Given the description of an element on the screen output the (x, y) to click on. 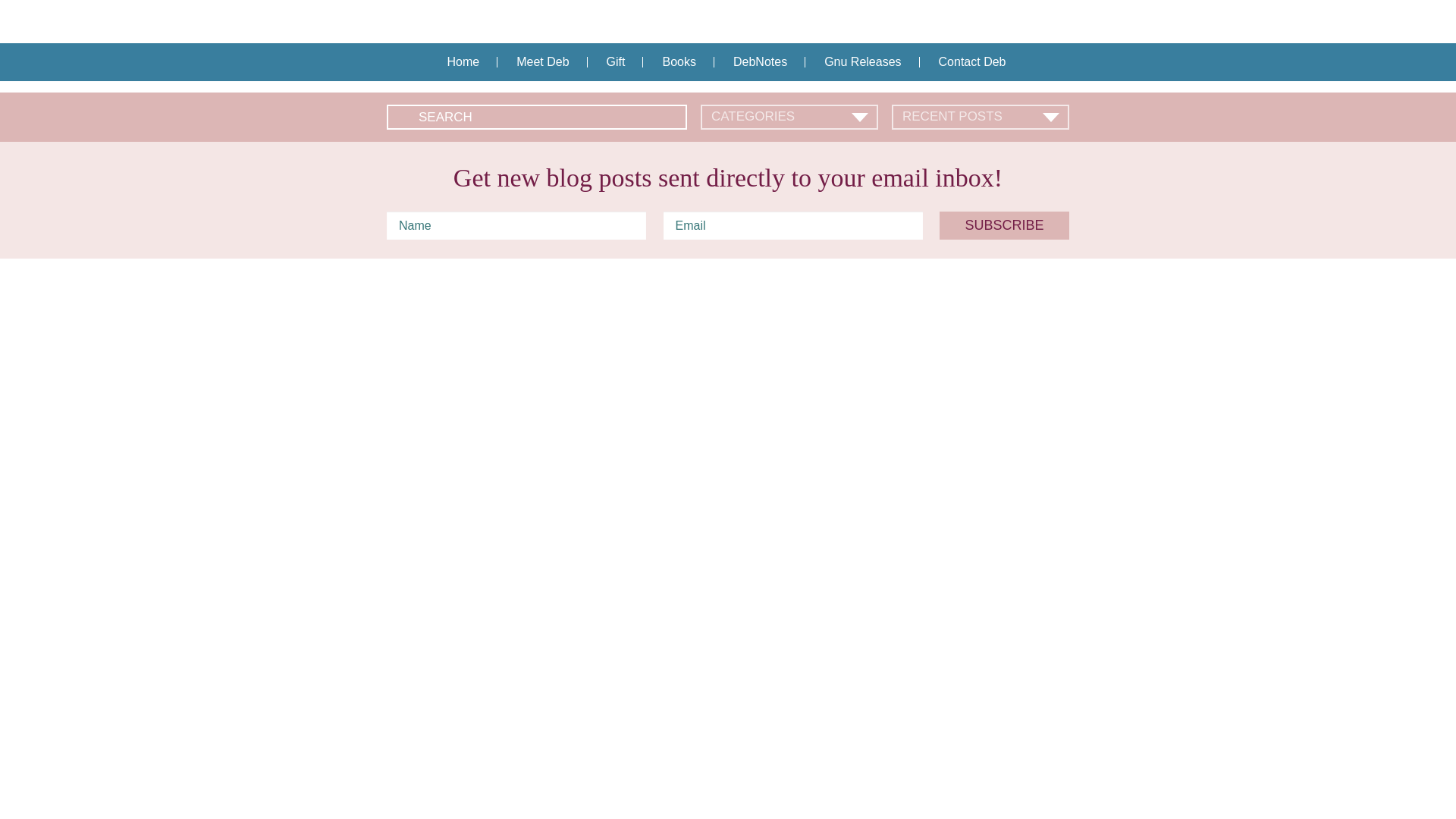
Gift (615, 62)
Contact Deb (972, 62)
Books (679, 62)
Home (463, 62)
DebNotes (759, 62)
Meet Deb (541, 62)
Gnu Releases (862, 62)
SUBSCRIBE (1003, 225)
